Given the description of an element on the screen output the (x, y) to click on. 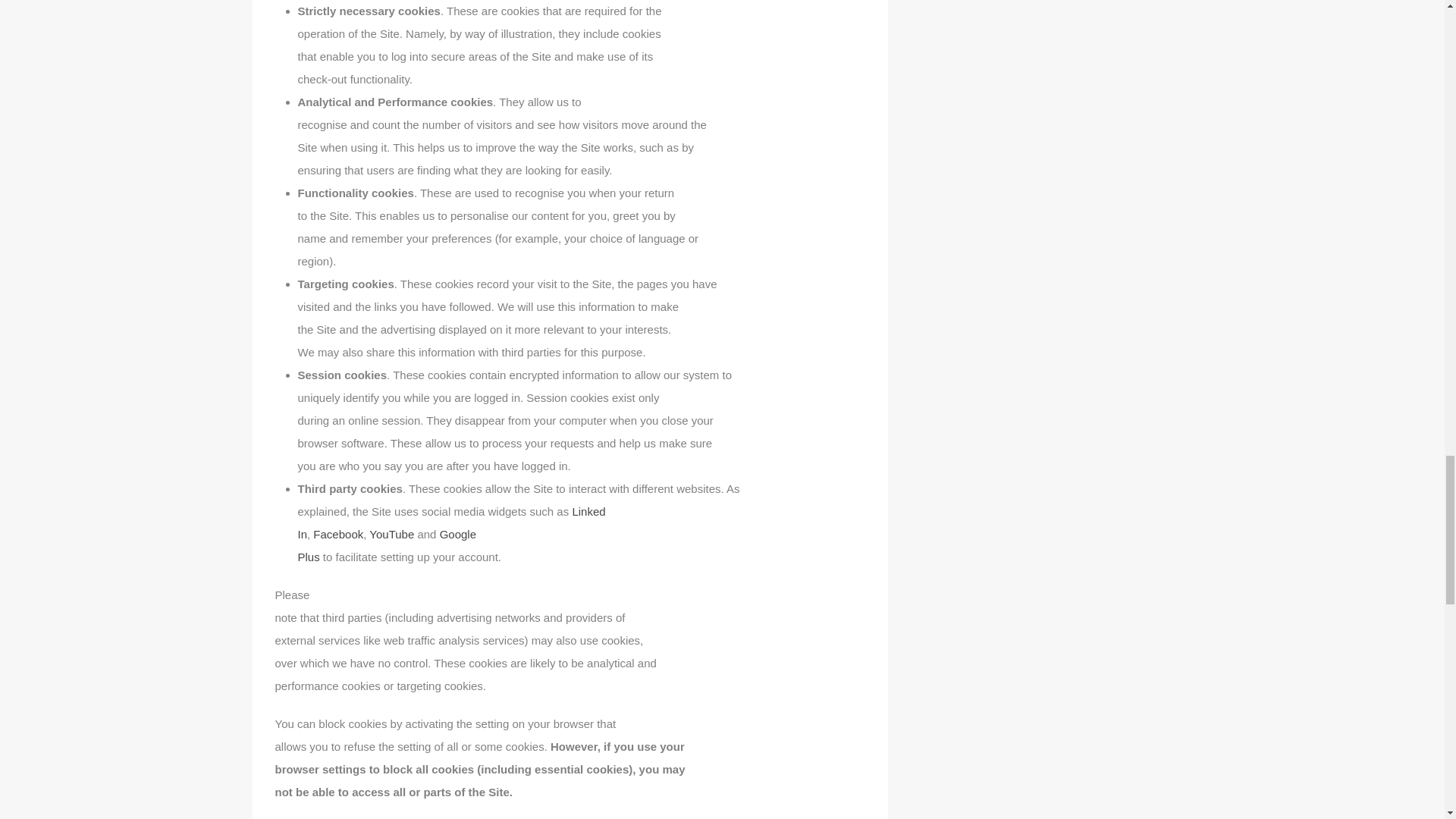
YouTube (451, 522)
Facebook (386, 545)
